Given the description of an element on the screen output the (x, y) to click on. 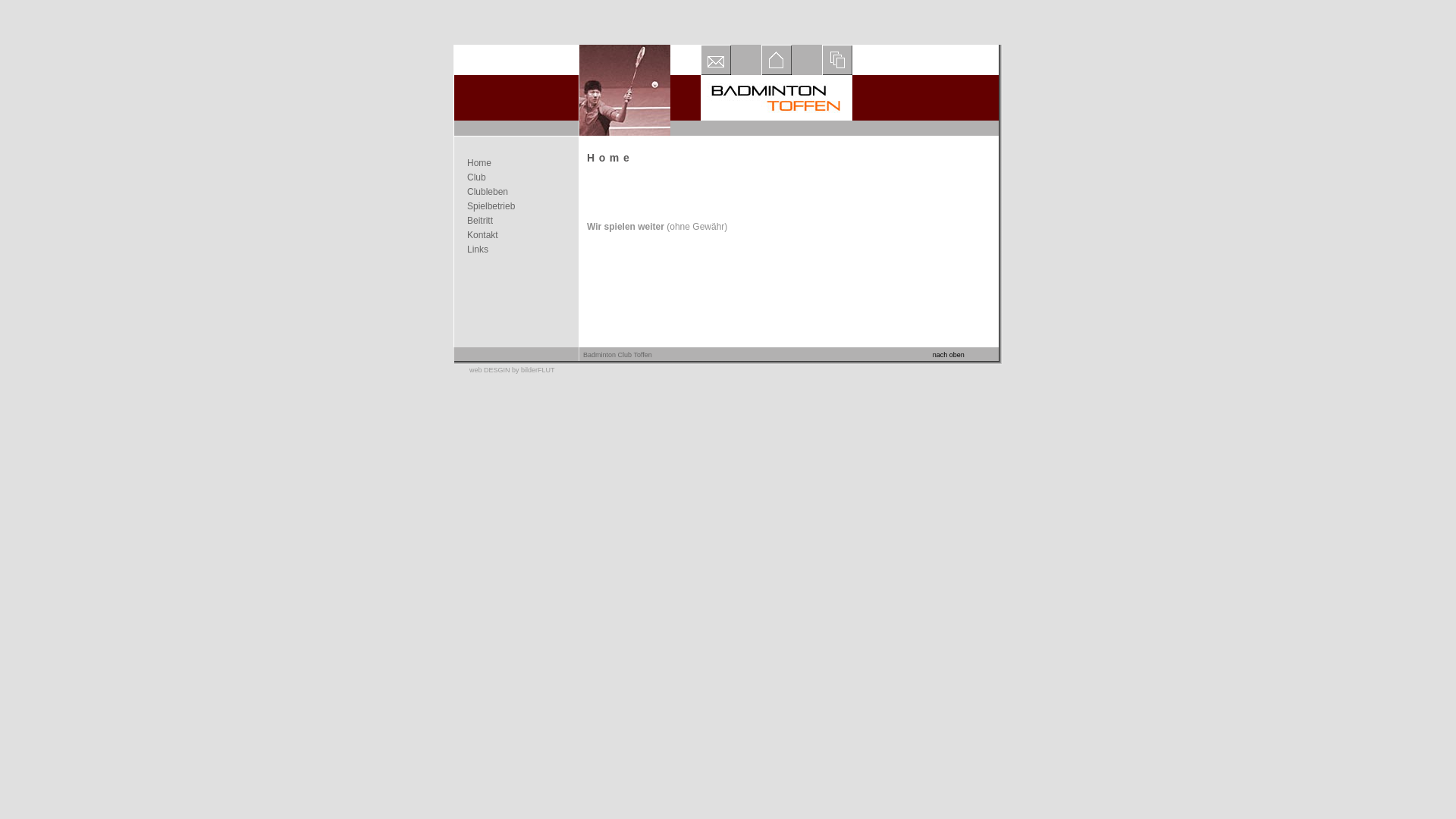
Spielbetrieb Element type: text (516, 205)
nach oben Element type: text (948, 354)
Club Element type: text (516, 176)
Kontakt Element type: text (516, 234)
web DESGIN by bilderFLUT Element type: text (512, 369)
Beitritt Element type: text (516, 220)
Home Element type: text (516, 162)
Links Element type: text (516, 248)
Clubleben Element type: text (516, 191)
